Given the description of an element on the screen output the (x, y) to click on. 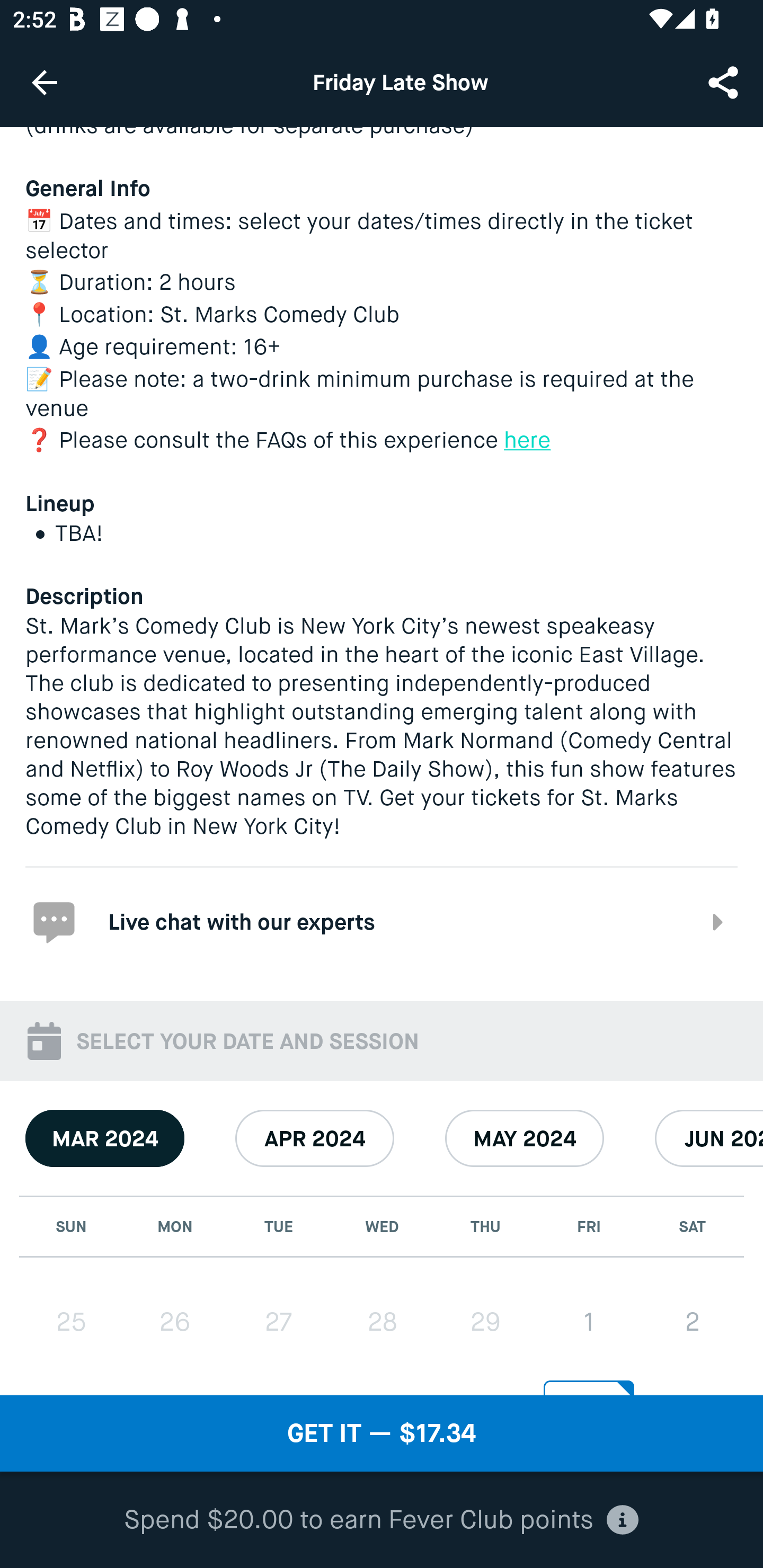
Navigate up (44, 82)
Share (724, 81)
Live chat with our experts (381, 920)
MAR 2024 (104, 1138)
APR 2024 (314, 1138)
MAY 2024 (524, 1138)
JUN 2024 (708, 1138)
25 (70, 1321)
26 (174, 1321)
27 (278, 1321)
28 (382, 1321)
29 (485, 1321)
1 (588, 1321)
2 (692, 1321)
GET IT — $17.34 (381, 1433)
Spend $20.00 to earn Fever Club points (381, 1519)
